Given the description of an element on the screen output the (x, y) to click on. 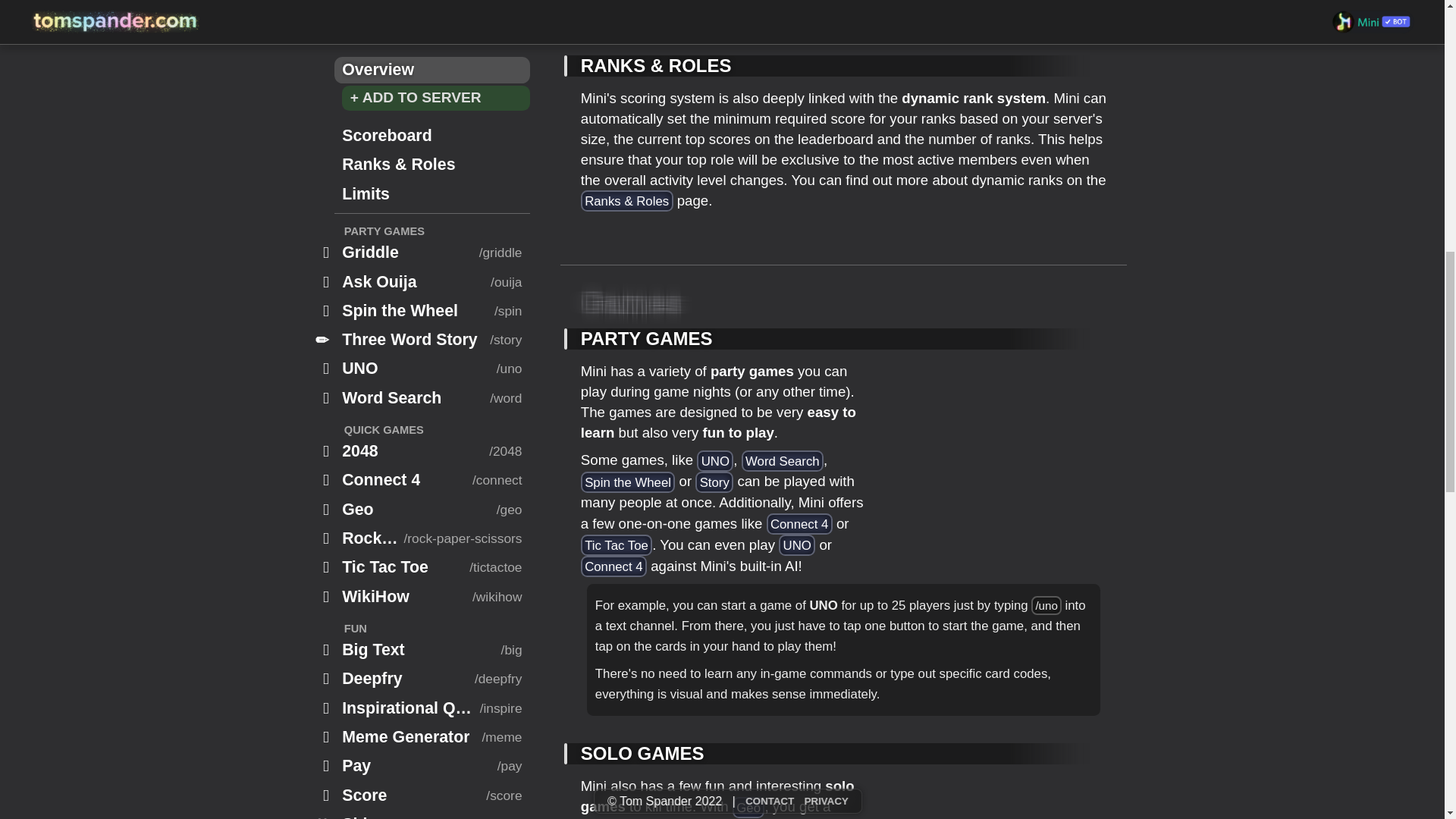
Spotify (551, 720)
Connect 4 (613, 566)
Geo (748, 807)
YouTube (555, 606)
Spin the Wheel (627, 482)
UNO (796, 545)
Discord (552, 635)
Connect 4 (799, 523)
SoundCloud (567, 748)
Discord (552, 306)
